Given the description of an element on the screen output the (x, y) to click on. 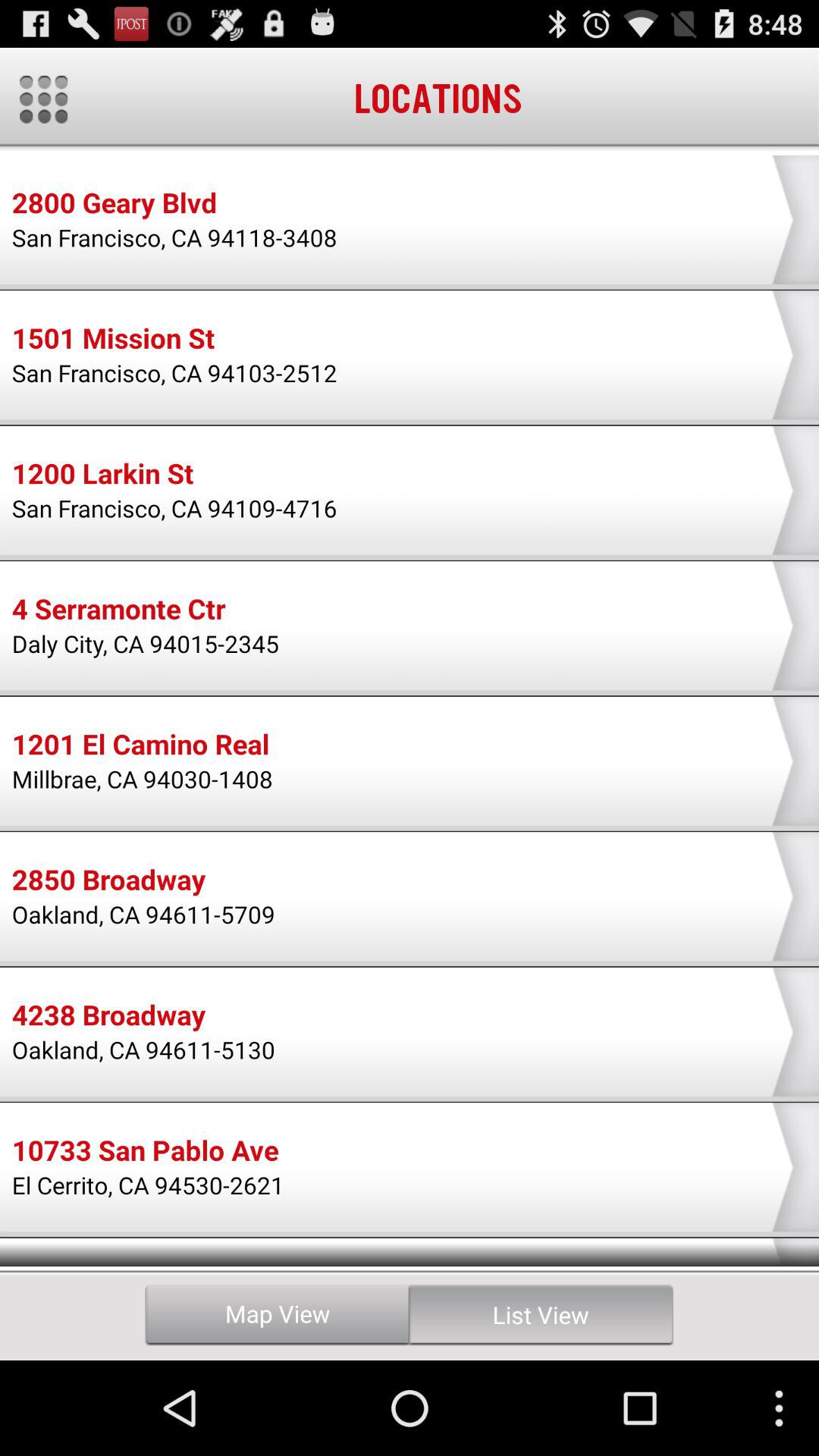
flip until 1200 larkin st icon (102, 475)
